Given the description of an element on the screen output the (x, y) to click on. 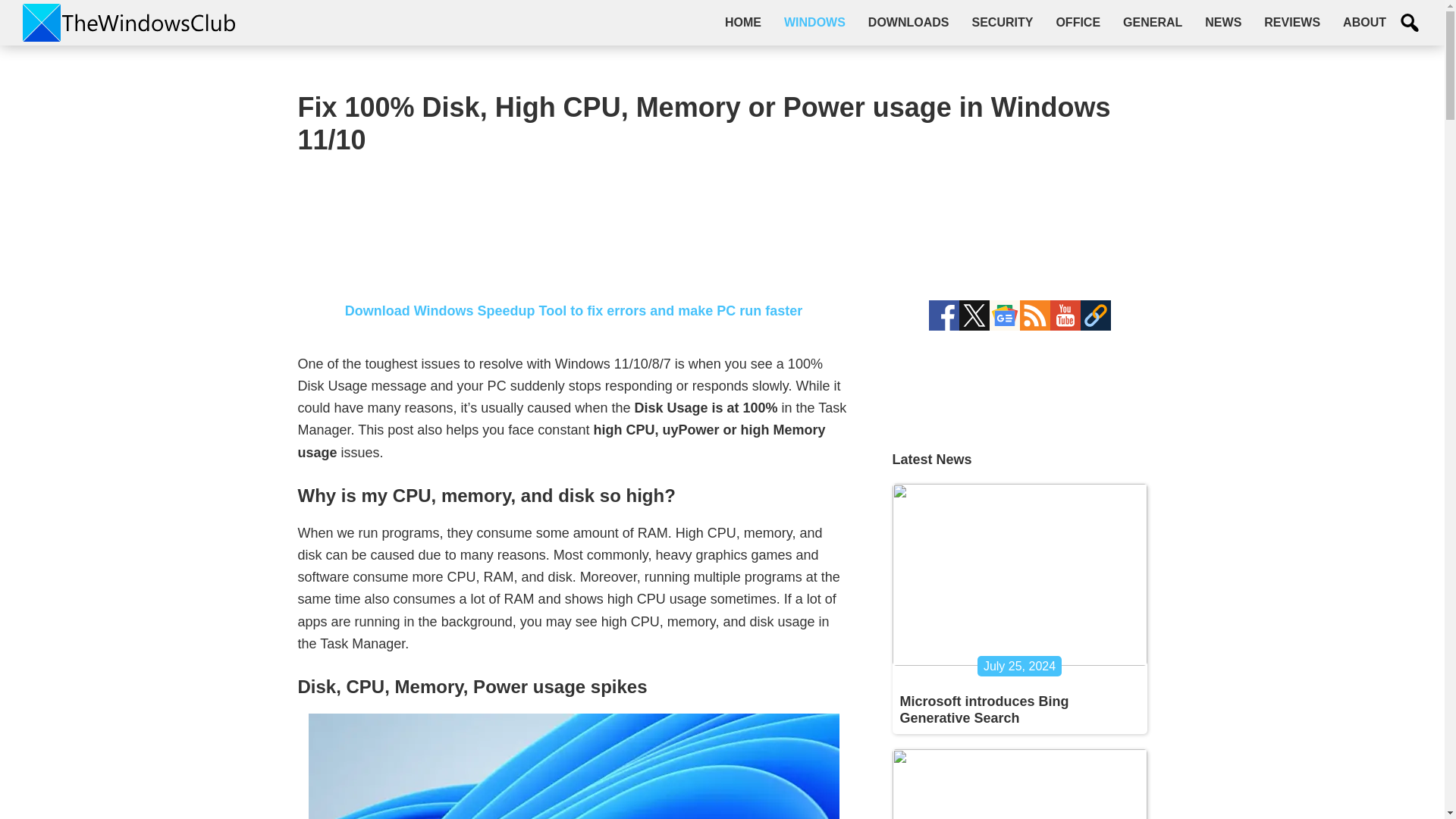
DOWNLOADS (908, 22)
WINDOWS (815, 22)
GENERAL (1152, 22)
NEWS (1222, 22)
SECURITY (1001, 22)
REVIEWS (1292, 22)
ABOUT (1364, 22)
HOME (743, 22)
